Given the description of an element on the screen output the (x, y) to click on. 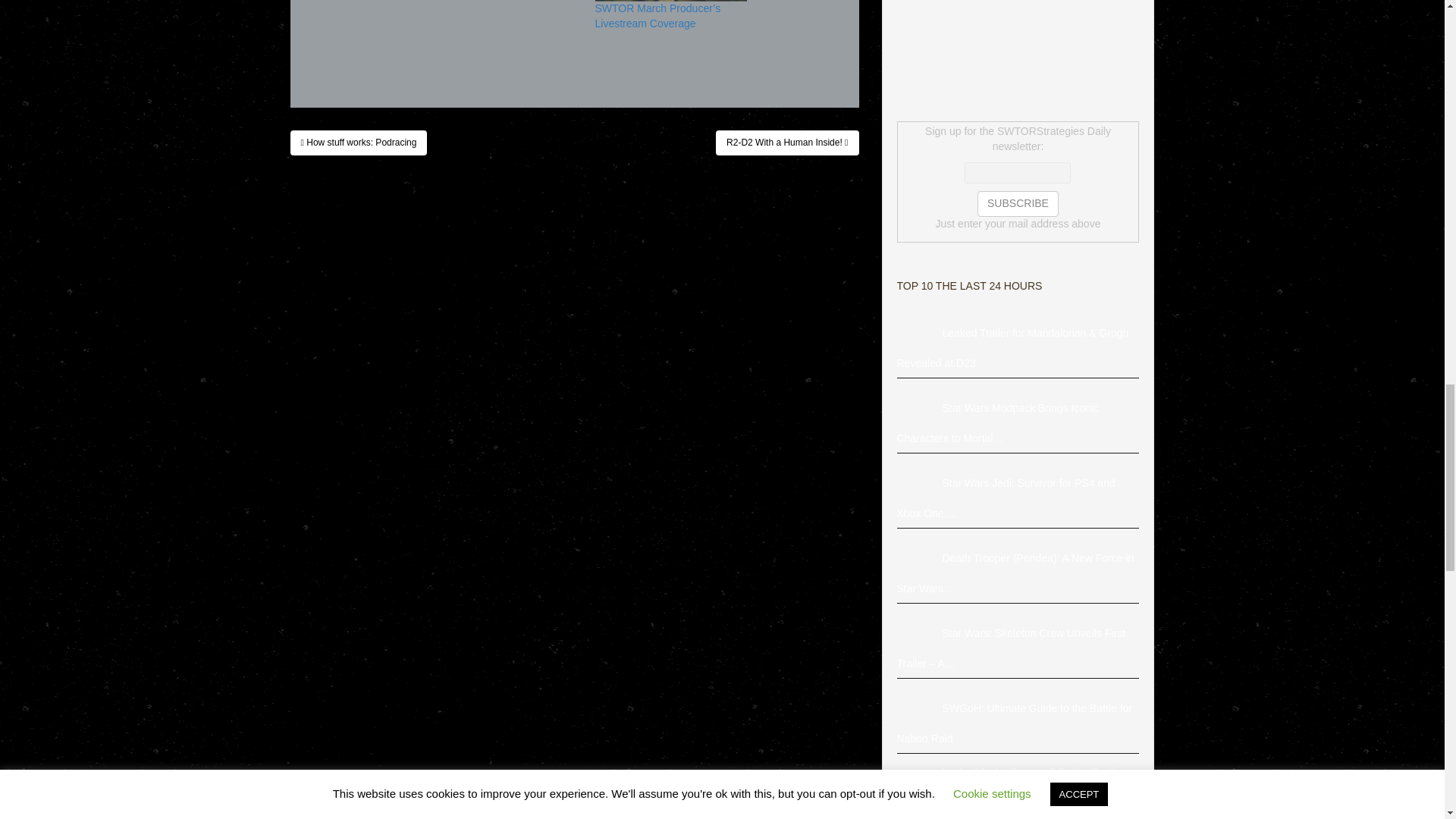
Subscribe (1017, 203)
SWGoH: Ultimate Guide to the Battle for Naboo Raid (919, 709)
